Given the description of an element on the screen output the (x, y) to click on. 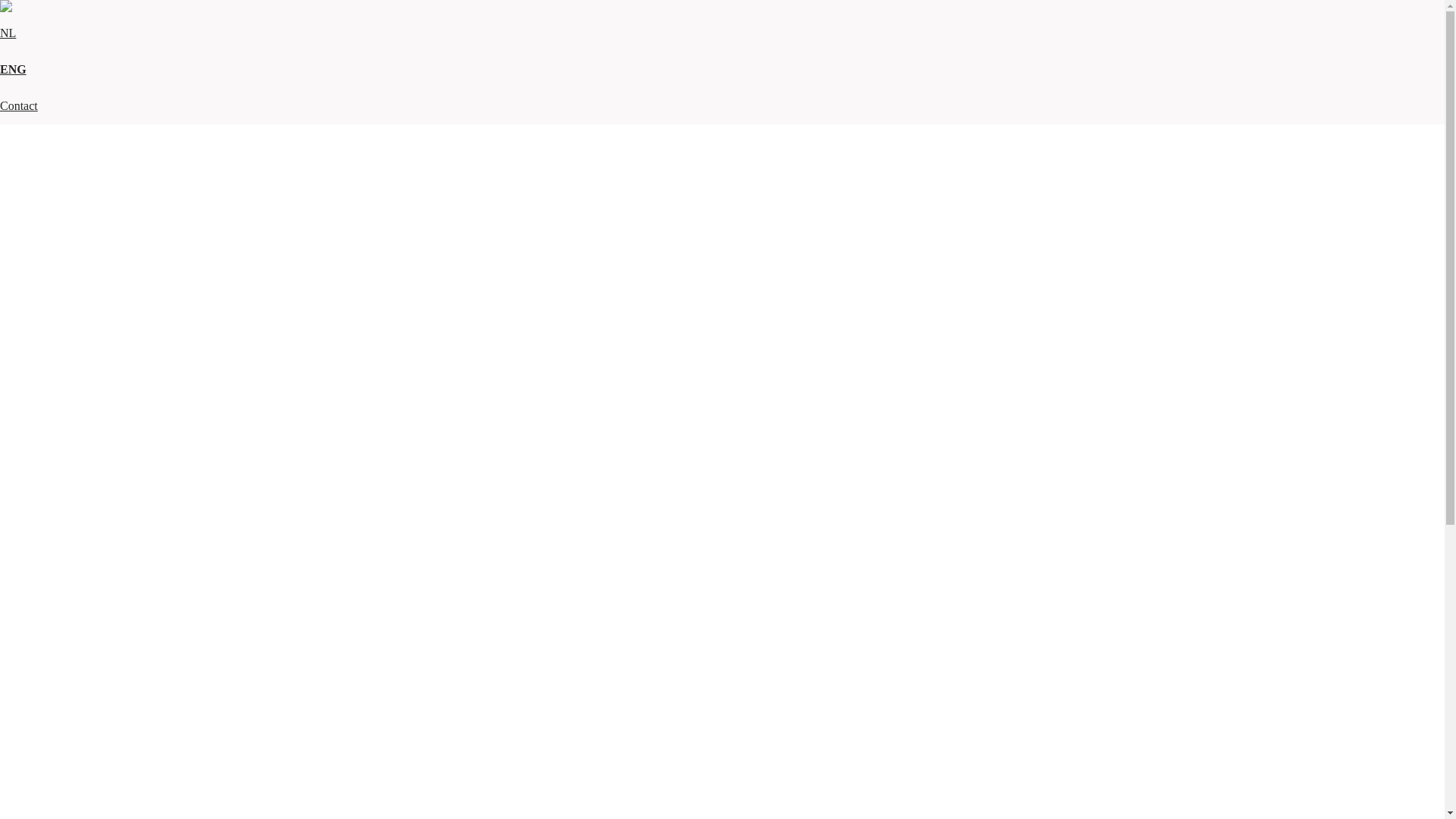
ENG Element type: text (13, 68)
Contact Element type: text (18, 105)
NL Element type: text (7, 32)
